Given the description of an element on the screen output the (x, y) to click on. 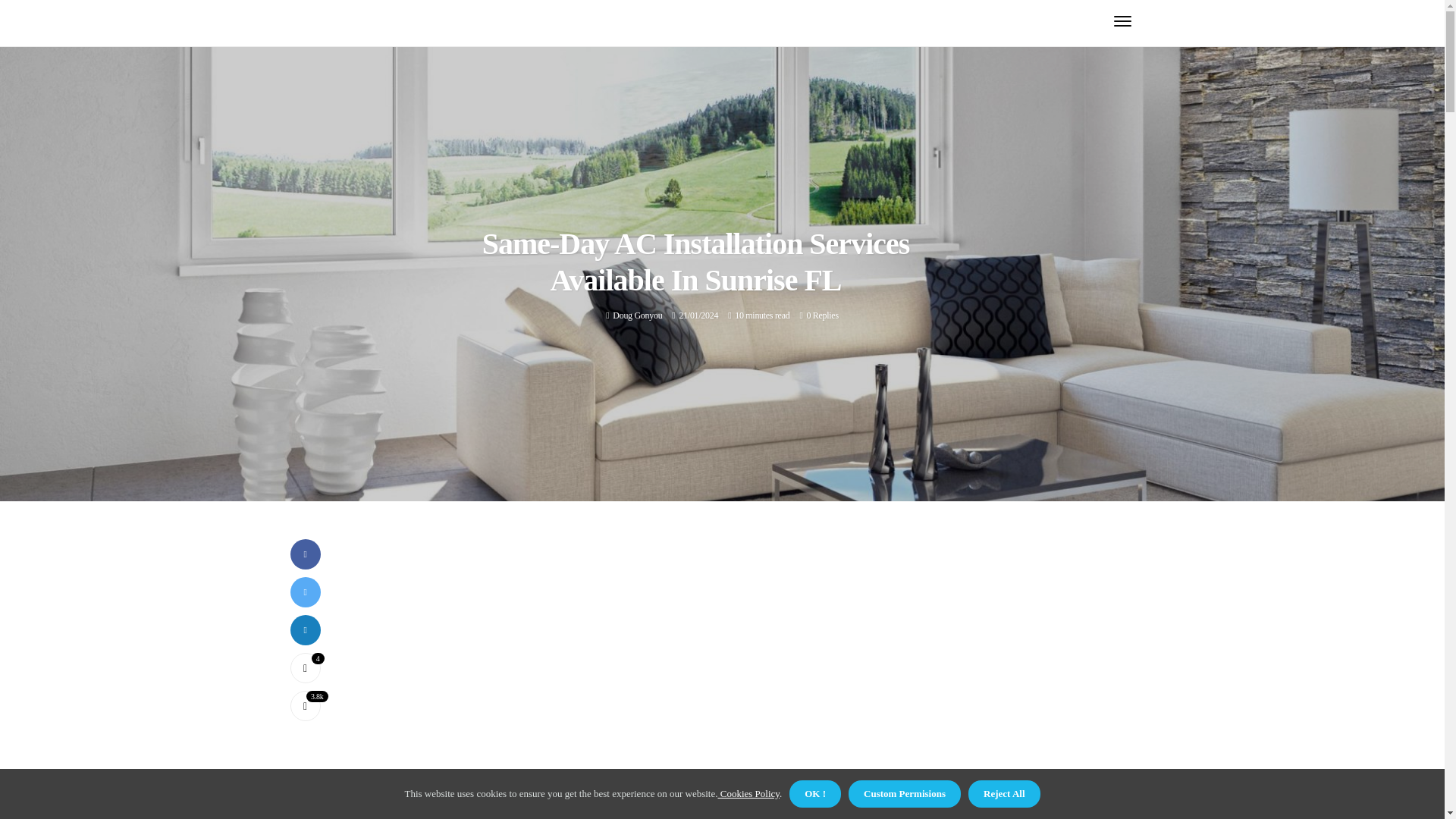
Like (304, 667)
Posts by Doug Gonyou (637, 315)
4 (304, 667)
0 Replies (822, 315)
Doug Gonyou (637, 315)
